Given the description of an element on the screen output the (x, y) to click on. 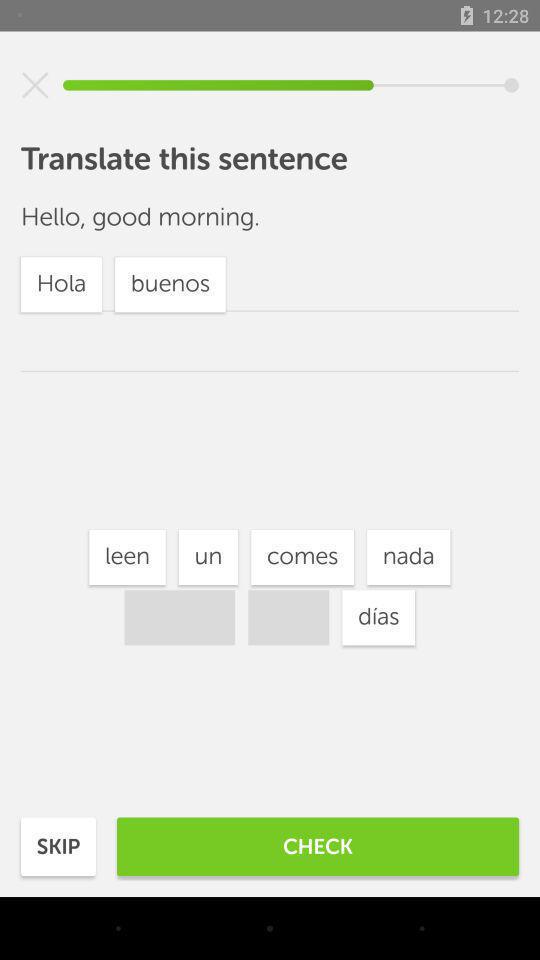
select the skip icon (58, 846)
